Given the description of an element on the screen output the (x, y) to click on. 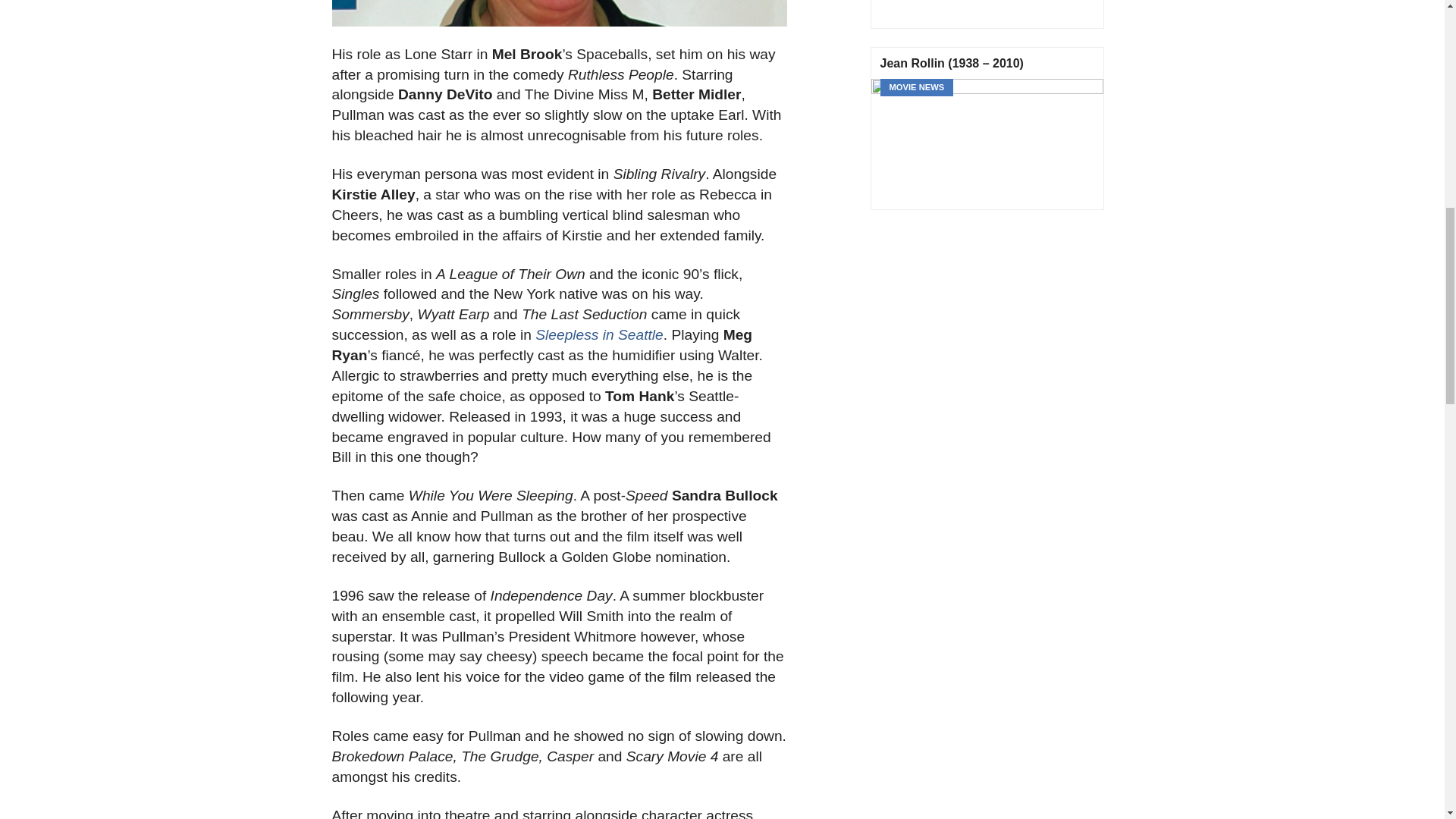
Sleepless in Seattle (599, 334)
Bill Pullman by David Shankbone (559, 13)
